Given the description of an element on the screen output the (x, y) to click on. 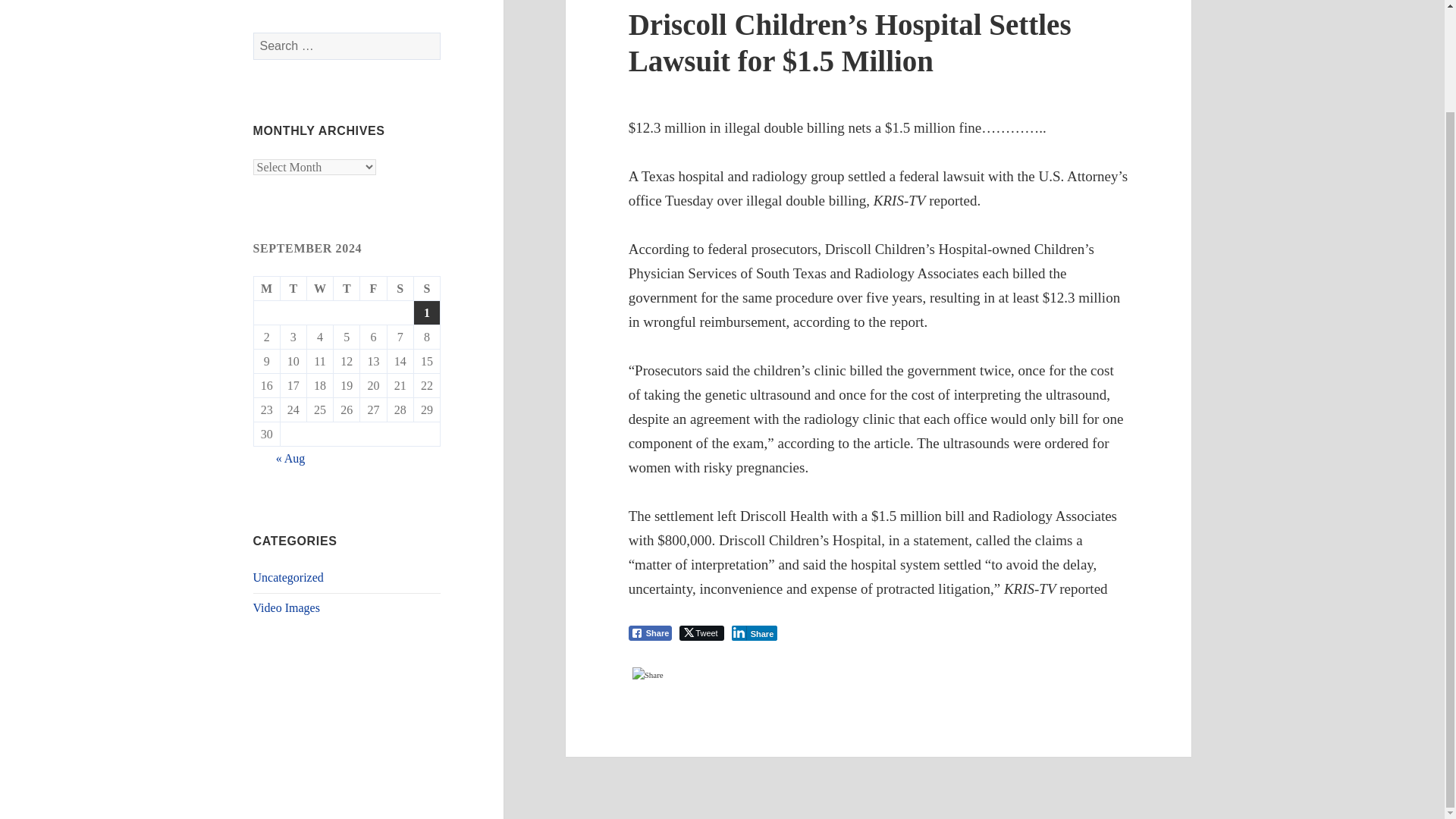
Friday (373, 288)
Thursday (346, 288)
Share (754, 632)
Share (650, 632)
Tweet (701, 632)
Sunday (427, 288)
Uncategorized (288, 576)
Video Images (286, 607)
Monday (267, 288)
